Given the description of an element on the screen output the (x, y) to click on. 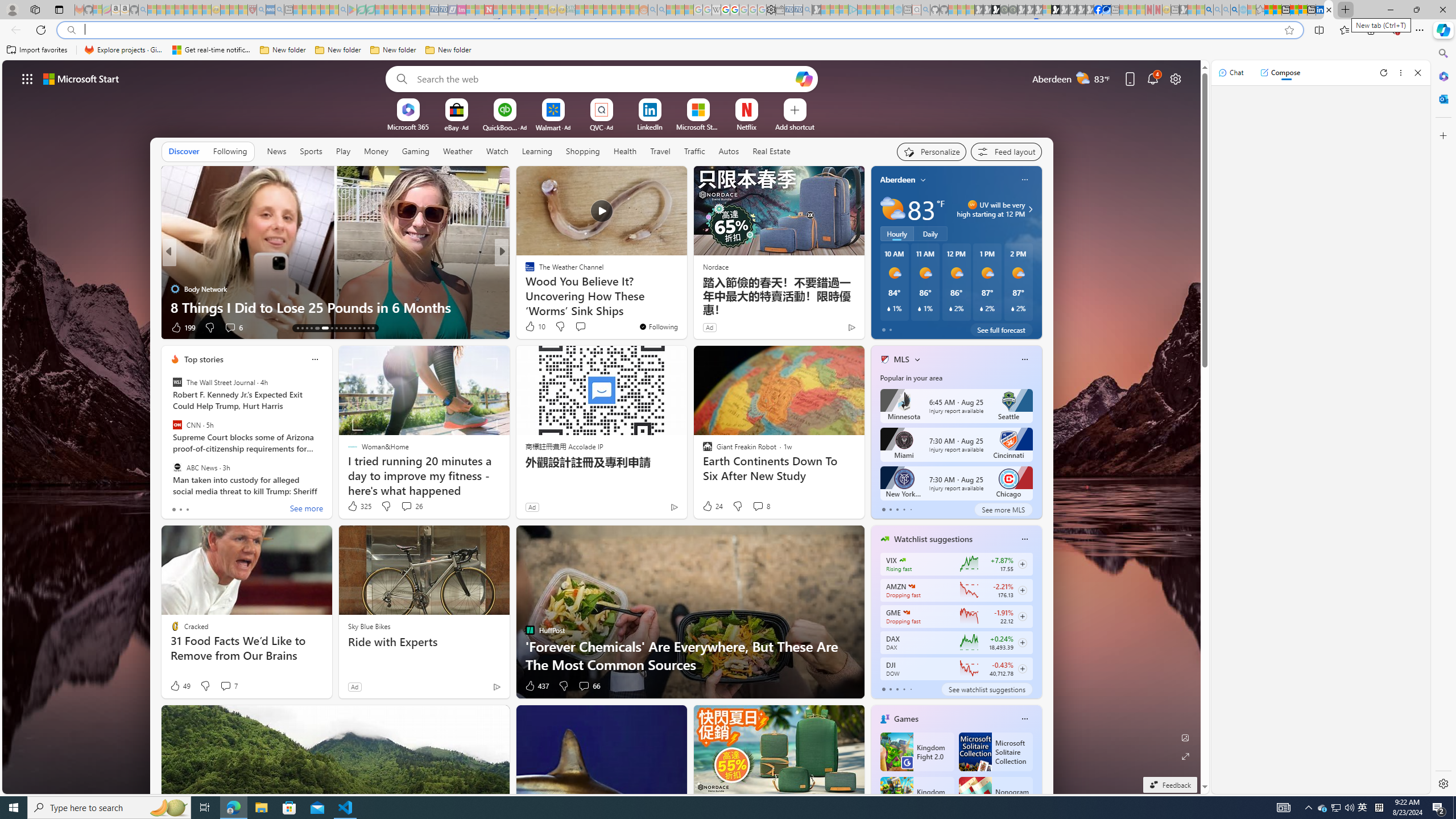
AutomationID: tab-27 (368, 328)
google - Search - Sleeping (342, 9)
Chat (1230, 72)
Favorites bar (715, 49)
App launcher (27, 78)
MLS (901, 359)
